Given the description of an element on the screen output the (x, y) to click on. 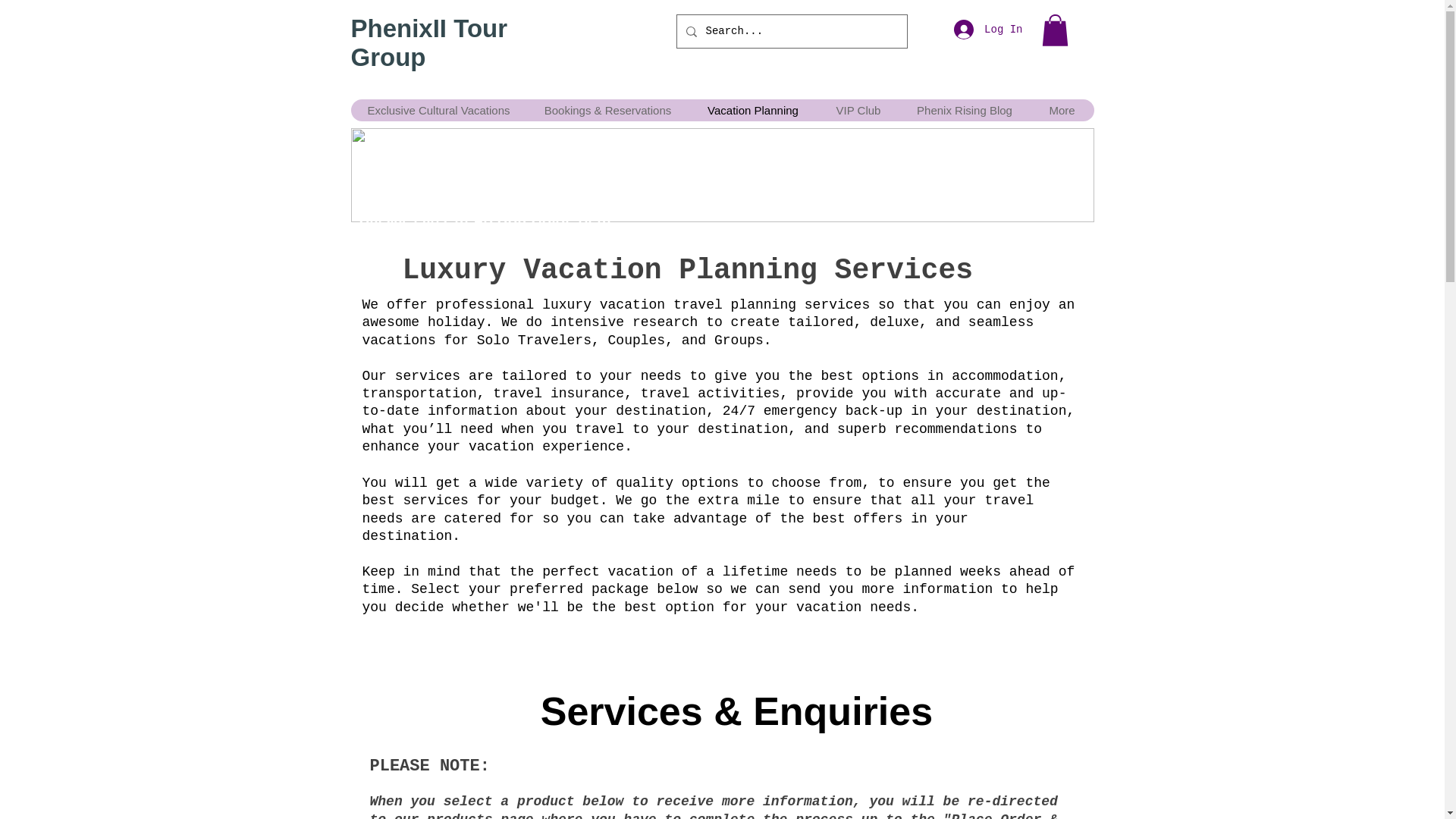
VIP Club (857, 110)
Phenix Rising Blog (964, 110)
PhenixII Tour Group (428, 42)
Log In (987, 29)
Exclusive Cultural Vacations (437, 110)
Vacation Planning (752, 110)
READ OUR GUIDE HERE (534, 219)
HERE NOW!!! (847, 183)
